Given the description of an element on the screen output the (x, y) to click on. 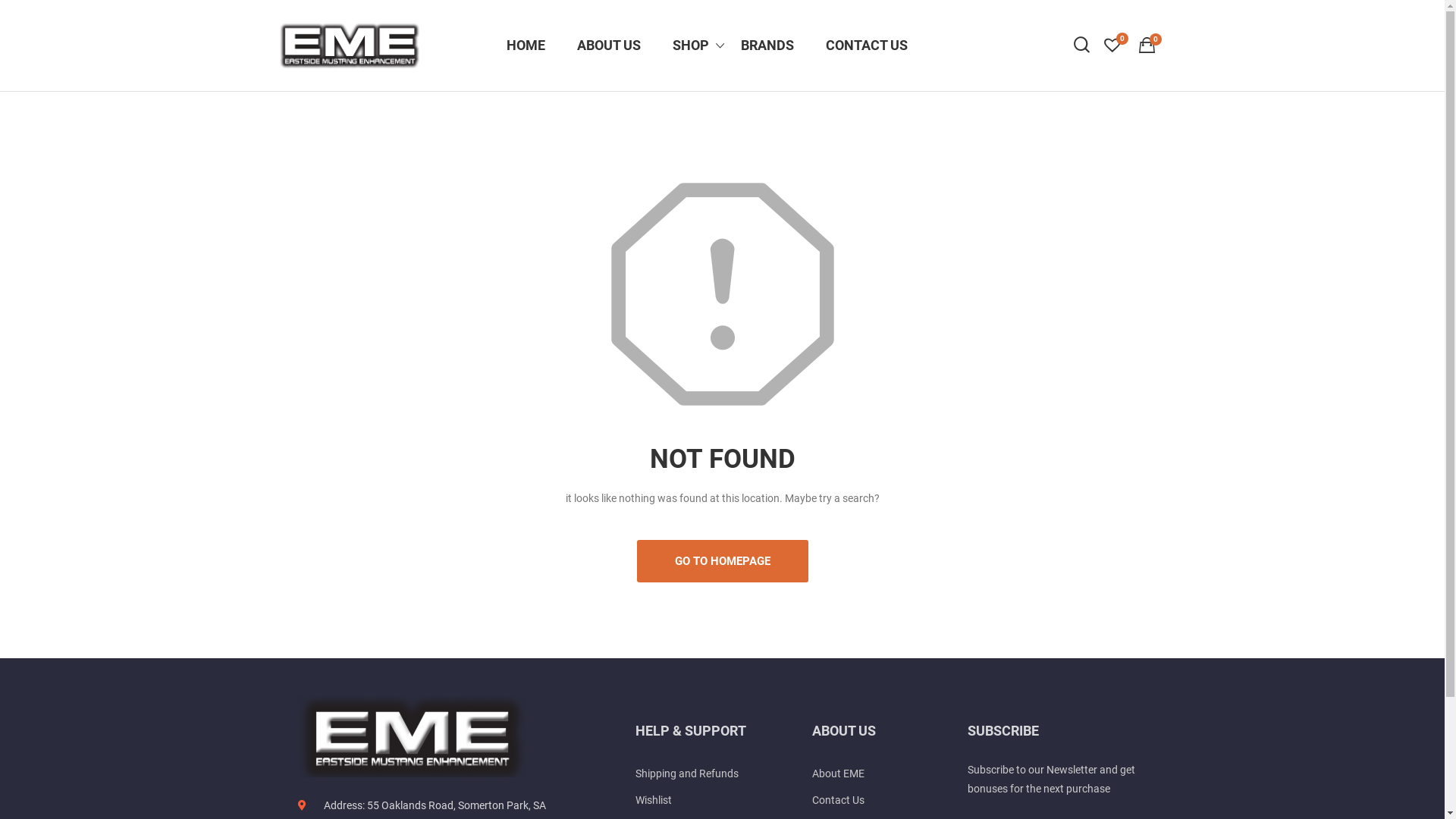
Contact Us Element type: text (881, 800)
0 Element type: text (1146, 46)
0 Element type: text (1114, 45)
HOME Element type: text (525, 45)
CONTACT US Element type: text (866, 45)
GO TO HOMEPAGE Element type: text (722, 560)
ABOUT US Element type: text (608, 45)
Wishlist Element type: text (697, 800)
SHOP Element type: text (690, 45)
BRANDS Element type: text (767, 45)
About EME Element type: text (881, 773)
Shipping and Refunds Element type: text (697, 773)
